Given the description of an element on the screen output the (x, y) to click on. 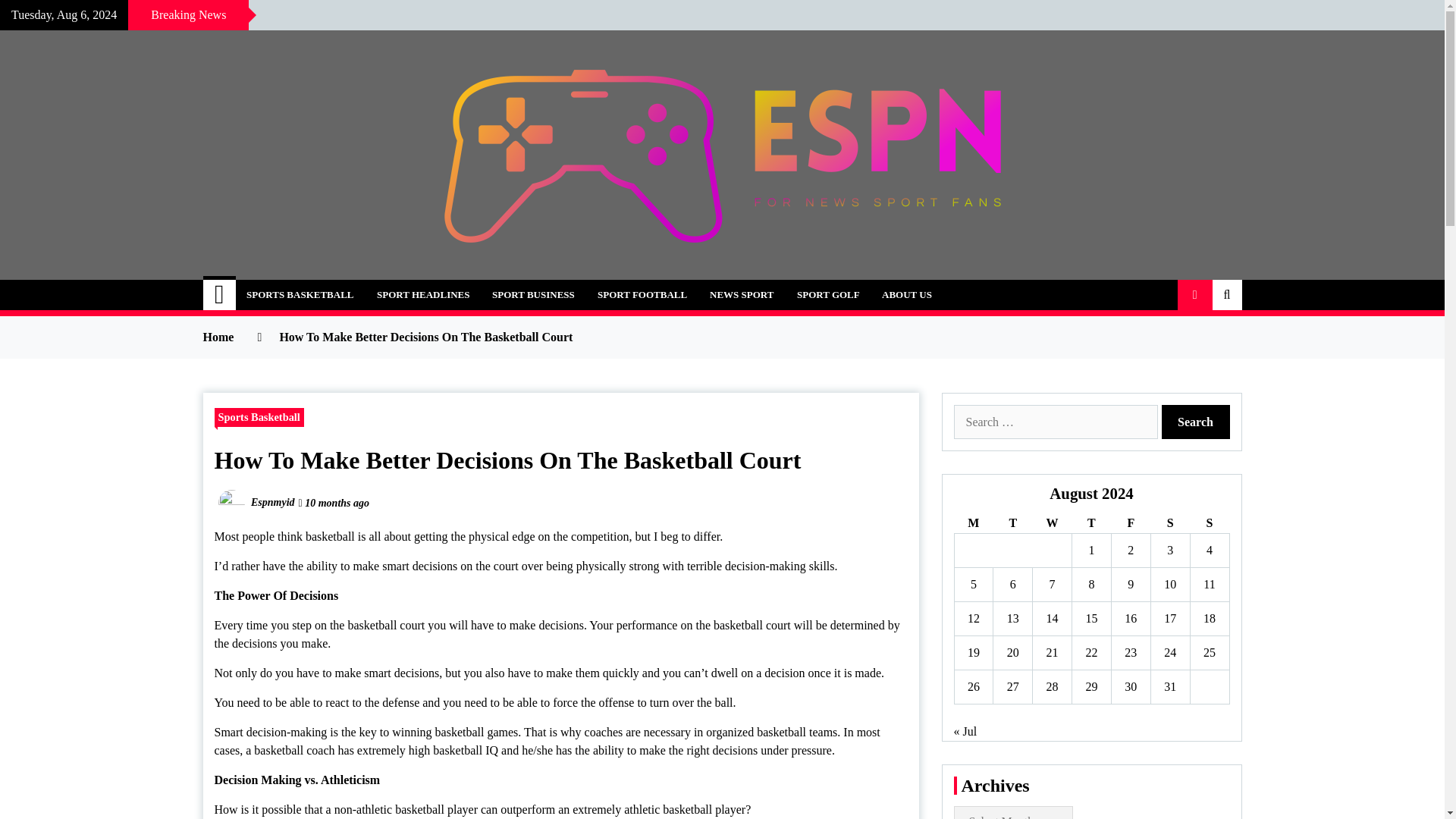
SPORT FOOTBALL (642, 295)
SPORT HEADLINES (422, 295)
SPORT GOLF (828, 295)
Thursday (1091, 523)
Espn (239, 286)
Friday (1130, 523)
Search (1195, 421)
Monday (972, 523)
SPORTS BASKETBALL (299, 295)
ABOUT US (906, 295)
